Given the description of an element on the screen output the (x, y) to click on. 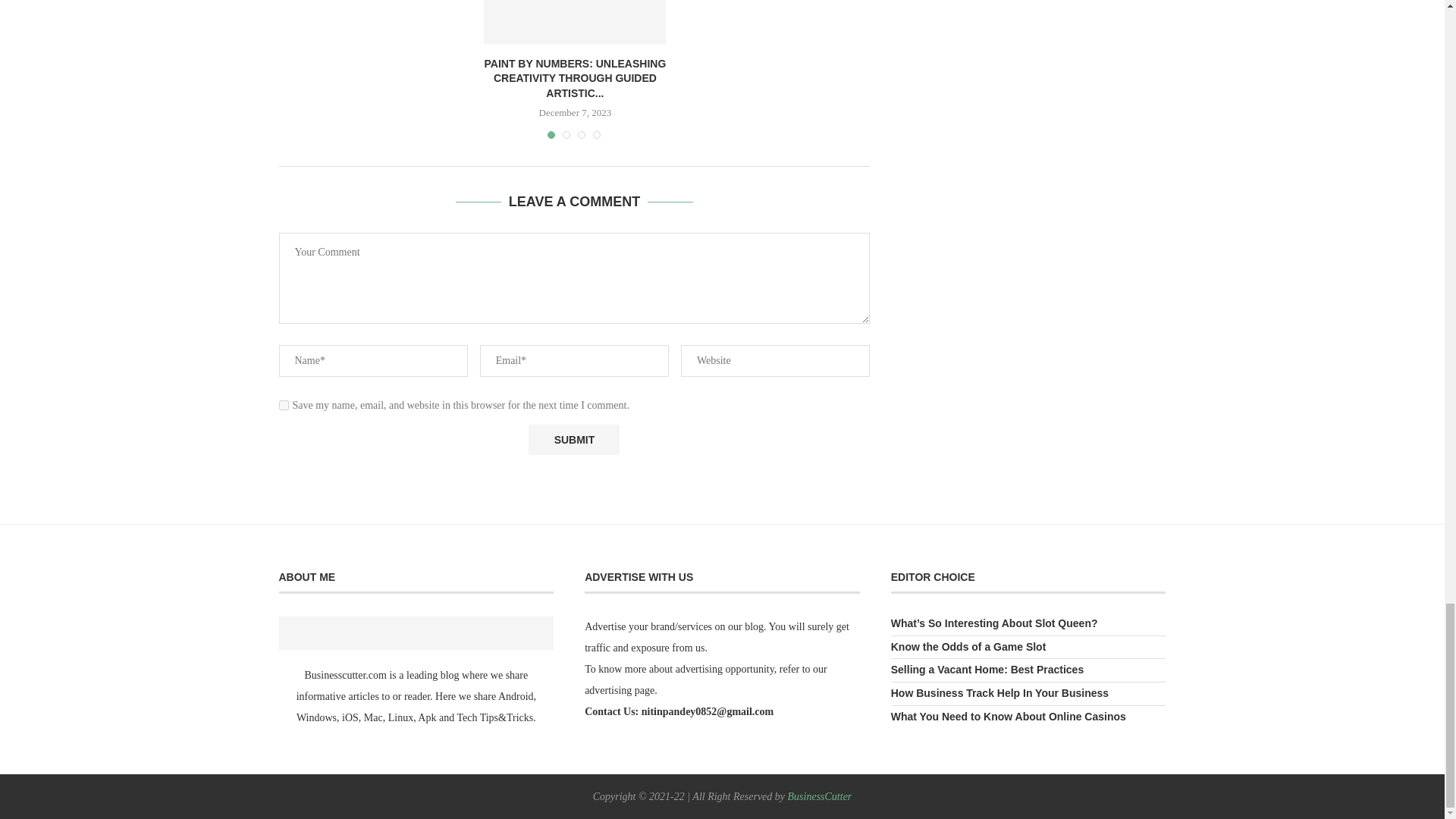
Submit (574, 440)
yes (283, 405)
